Given the description of an element on the screen output the (x, y) to click on. 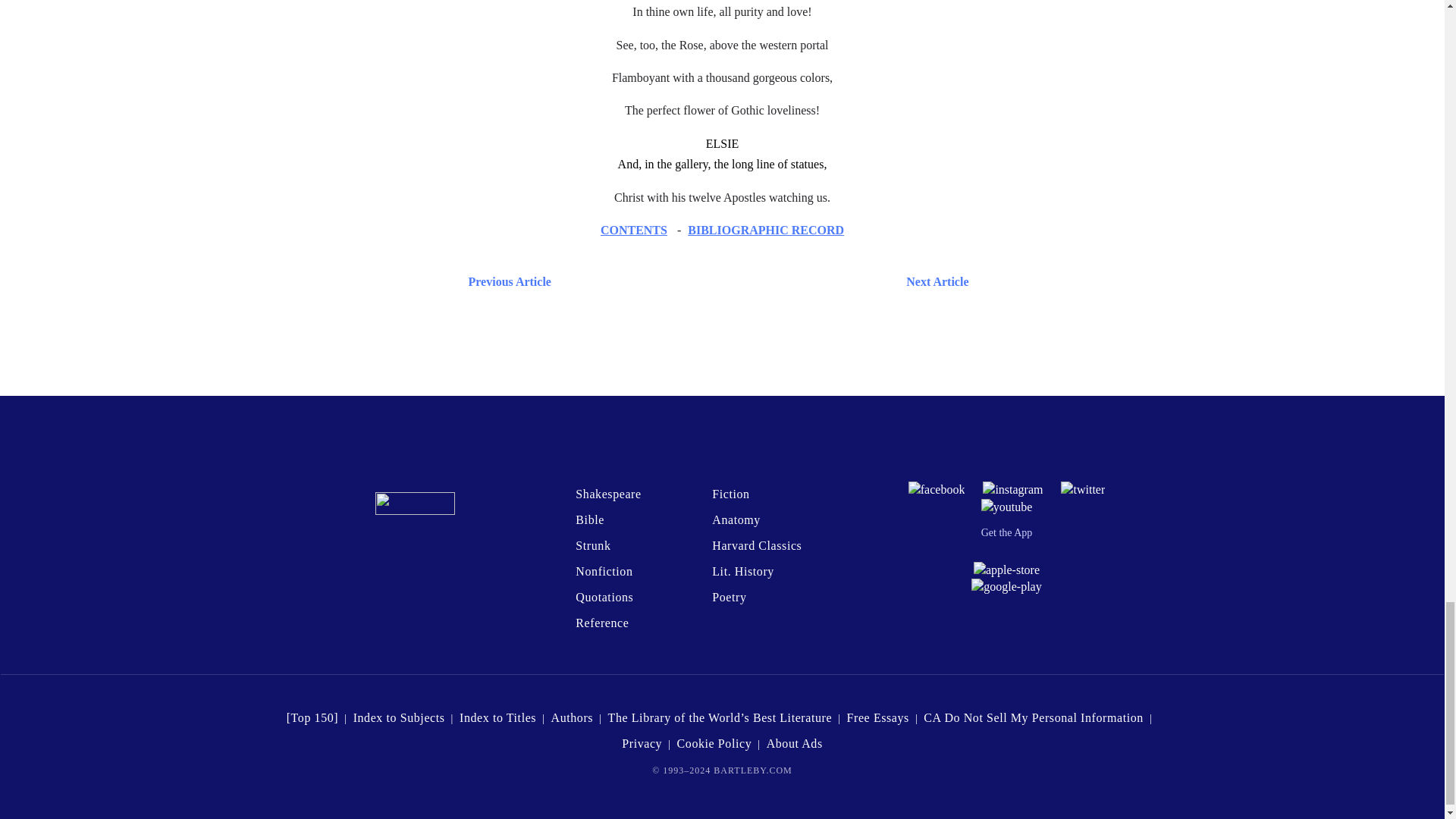
CONTENTS (632, 229)
Reference (601, 622)
Anatomy (735, 519)
Lit. History (742, 571)
Shakespeare (607, 493)
Next Article (767, 281)
Fiction (730, 493)
Quotations (604, 596)
Strunk (592, 545)
Poetry (728, 596)
